Given the description of an element on the screen output the (x, y) to click on. 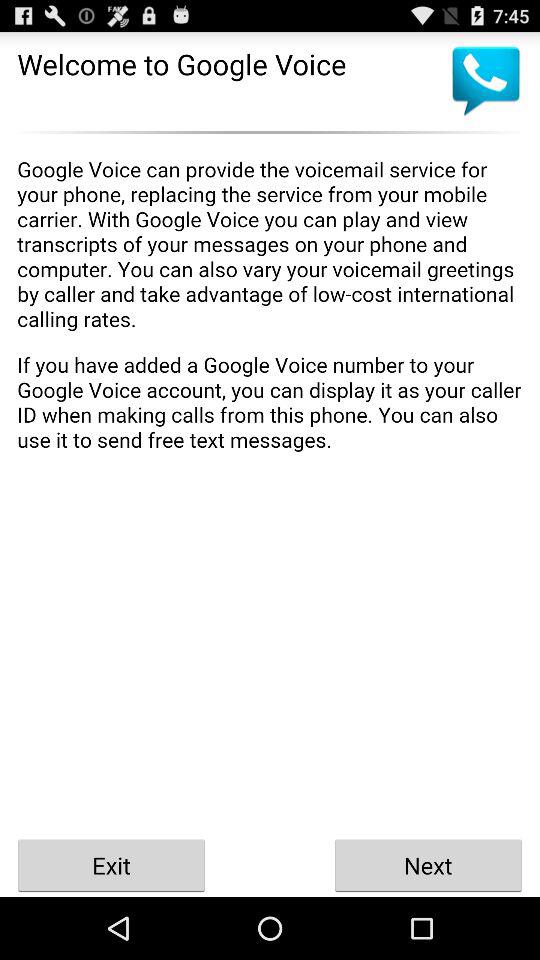
turn on button at the bottom right corner (427, 864)
